Given the description of an element on the screen output the (x, y) to click on. 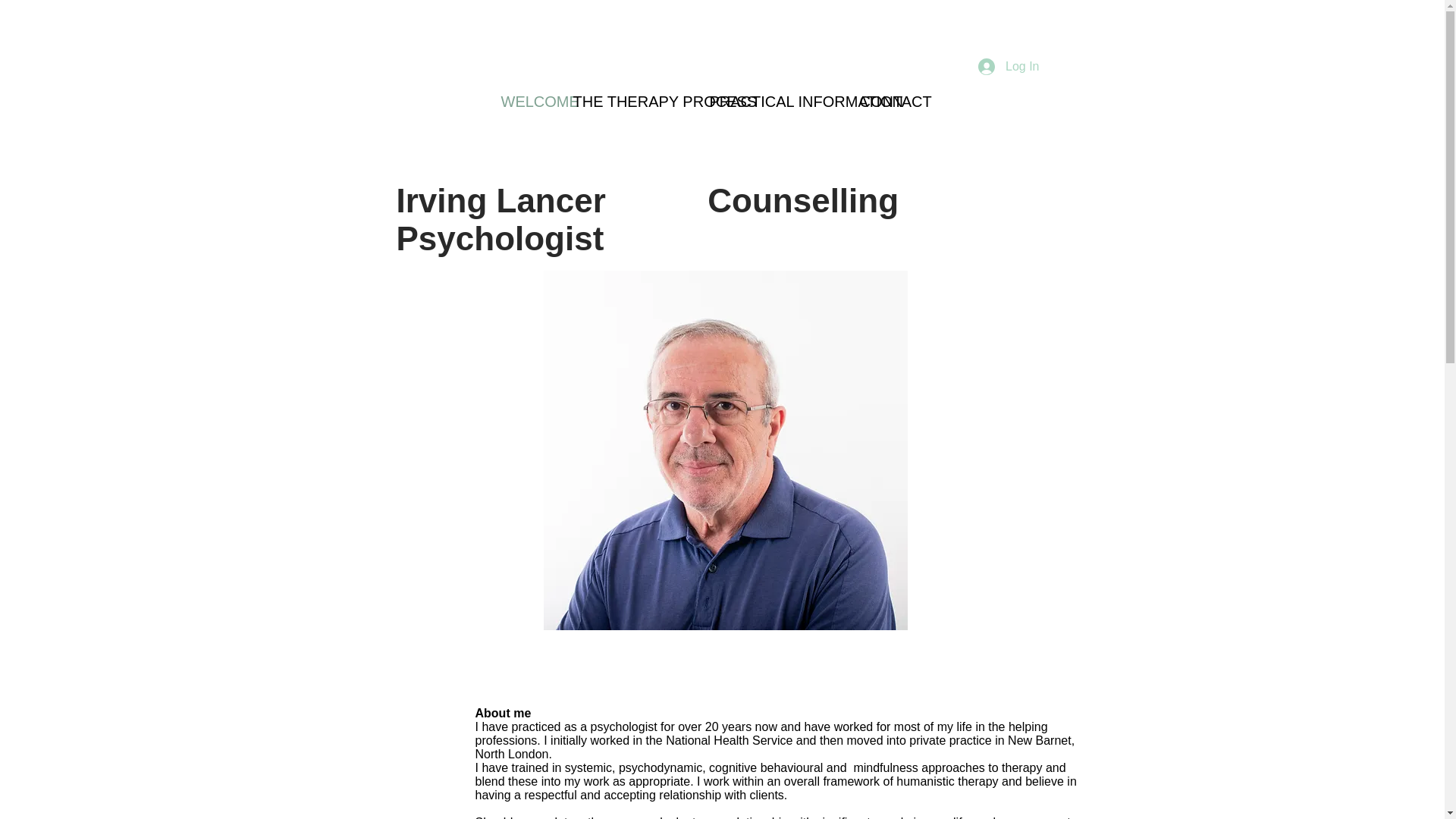
Log In (1008, 66)
PRACTICAL INFORMATION (772, 101)
CONTACT (881, 101)
WELCOME (525, 101)
THE THERAPY PROCESS (628, 101)
